Given the description of an element on the screen output the (x, y) to click on. 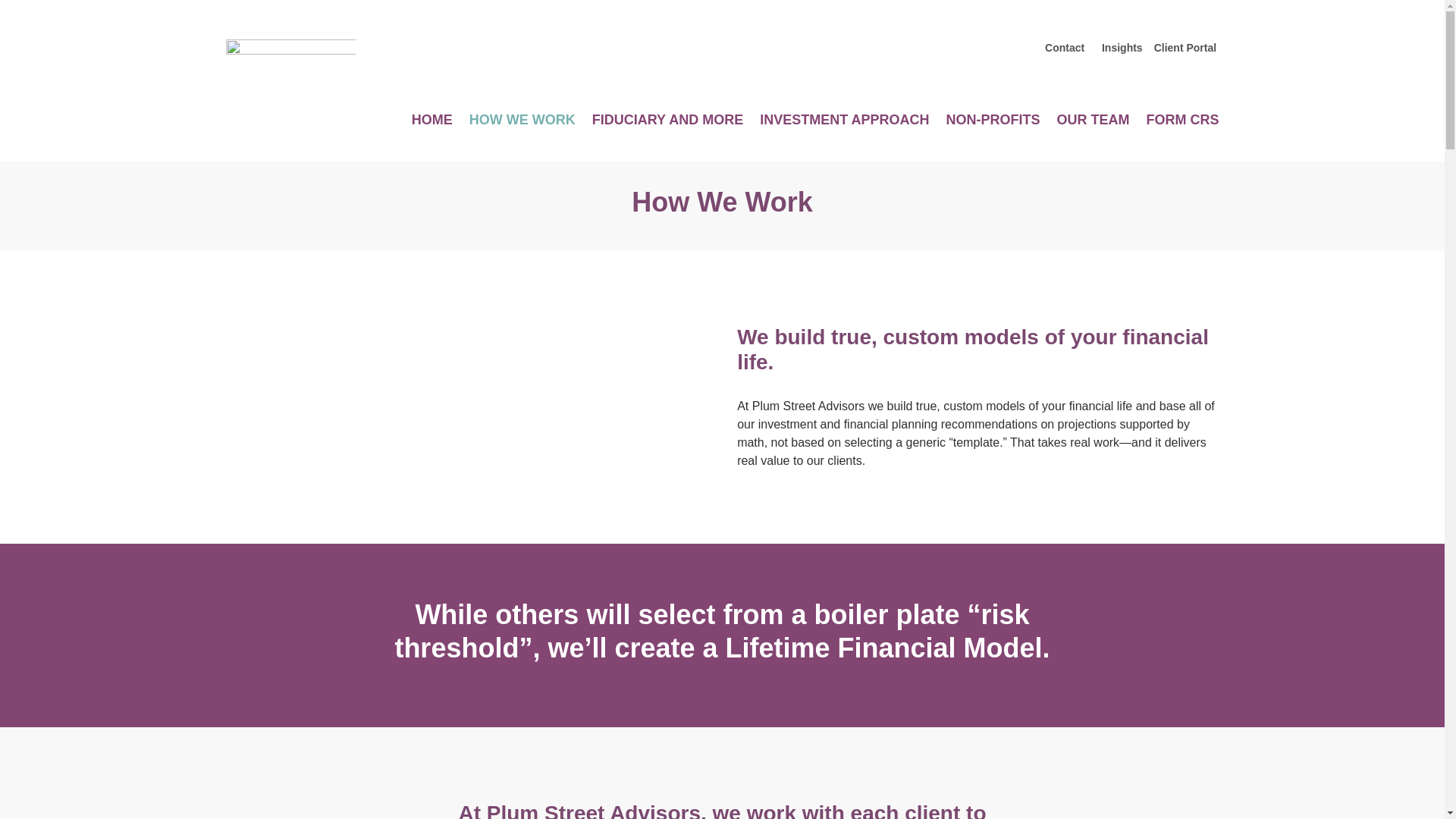
HOW WE WORK (521, 122)
FORM CRS (1183, 122)
Client Portal (1184, 47)
HOME (432, 122)
OUR TEAM (1093, 122)
Insights (1120, 47)
INVESTMENT APPROACH (844, 122)
Contact  (1066, 47)
Client Portal (1184, 47)
FIDUCIARY AND MORE (667, 122)
NON-PROFITS (993, 122)
Plum-street-advisors (290, 57)
